Given the description of an element on the screen output the (x, y) to click on. 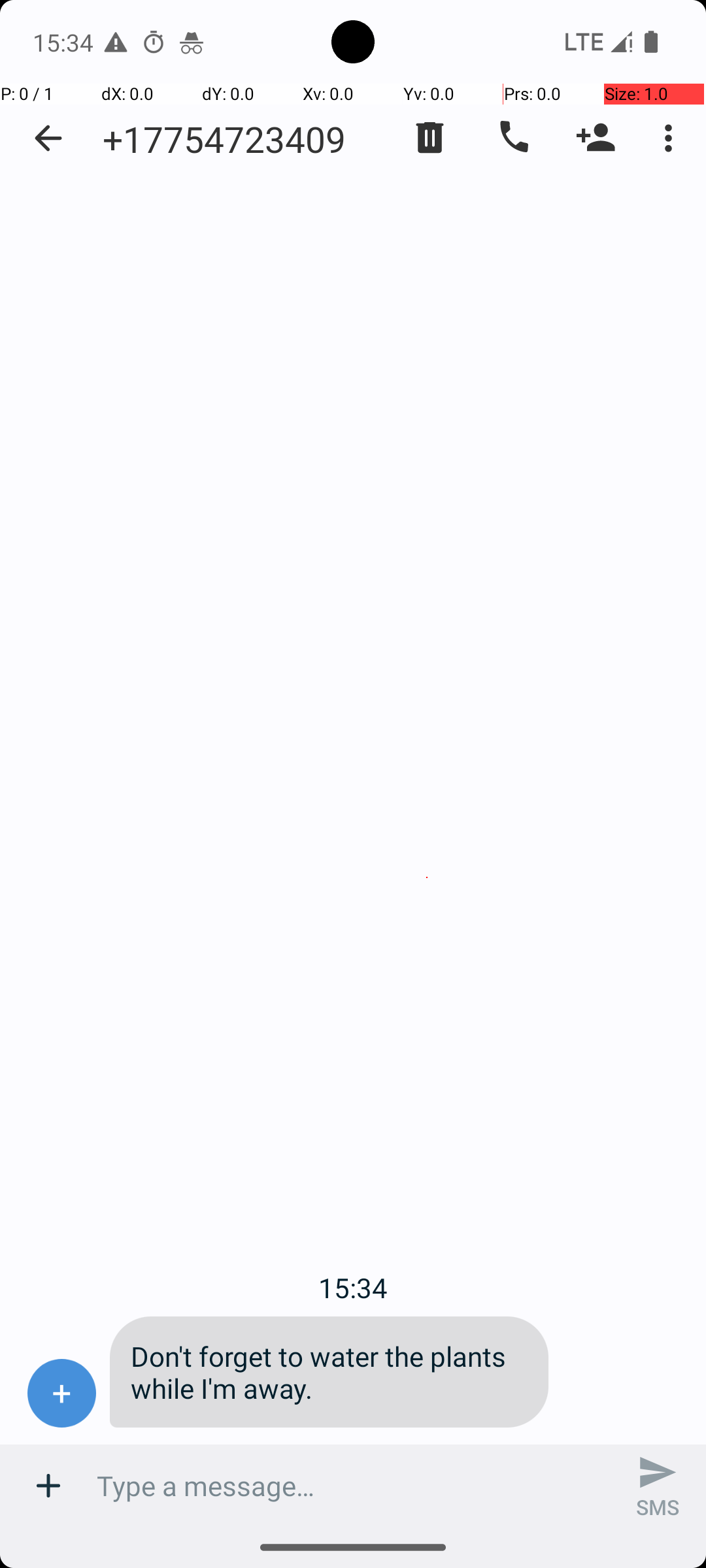
+17754723409 Element type: android.widget.TextView (223, 138)
Dial number Element type: android.widget.Button (512, 137)
Add Person Element type: android.widget.Button (595, 137)
Attachment Element type: android.widget.ImageView (48, 1485)
Type a message… Element type: android.widget.EditText (352, 1485)
SMS Element type: android.widget.Button (657, 1485)
Don't forget to water the plants while I'm away. Element type: android.widget.TextView (328, 1371)
